Given the description of an element on the screen output the (x, y) to click on. 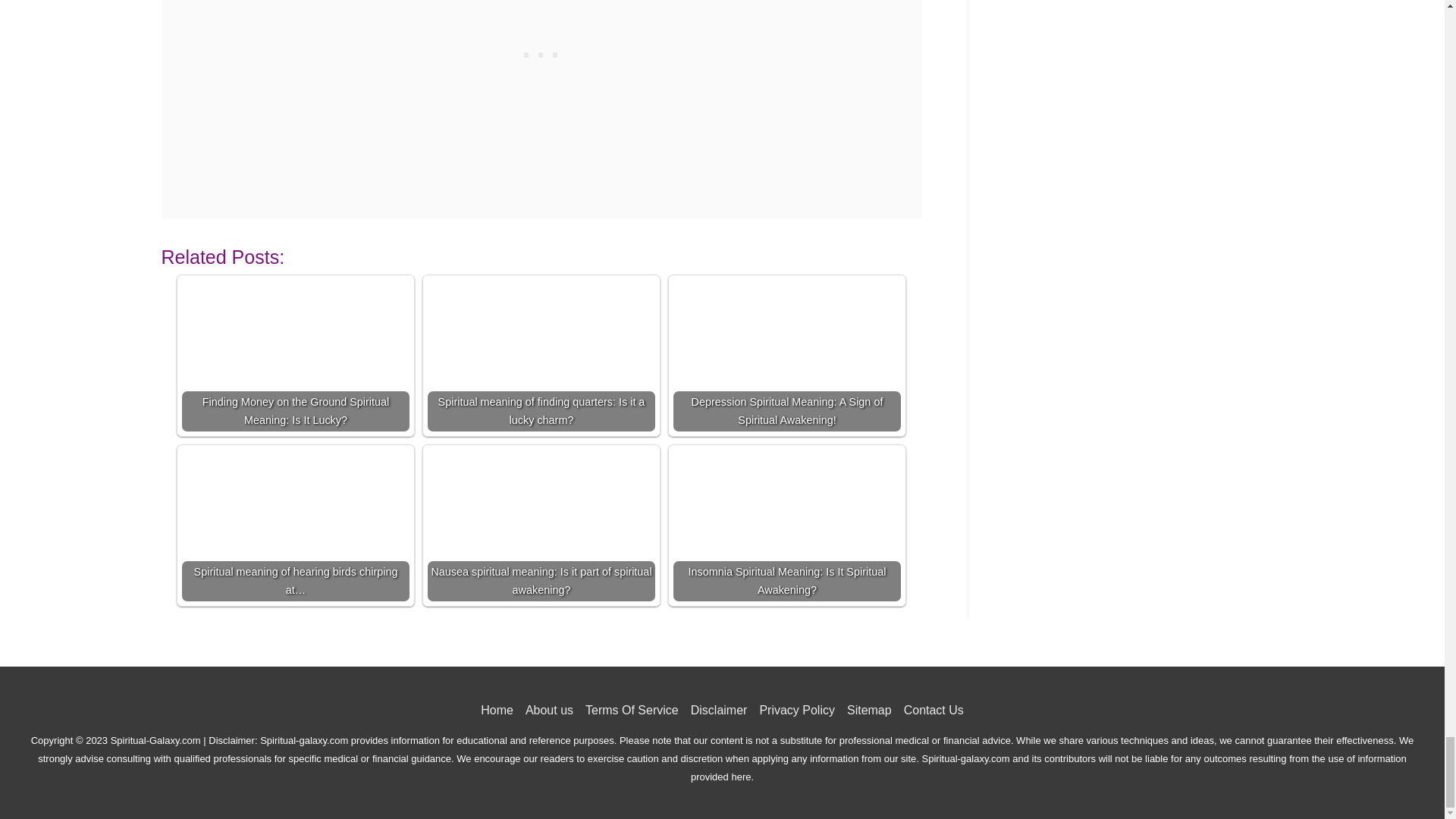
Depression Spiritual Meaning: A Sign of Spiritual Awakening! (786, 355)
Spiritual meaning of finding quarters: Is it a lucky charm? (541, 355)
Nausea spiritual meaning: Is it part of spiritual awakening? (541, 525)
Finding Money on the Ground Spiritual Meaning: Is It Lucky? (295, 355)
Insomnia Spiritual Meaning: Is It Spiritual Awakening? (786, 525)
